Given the description of an element on the screen output the (x, y) to click on. 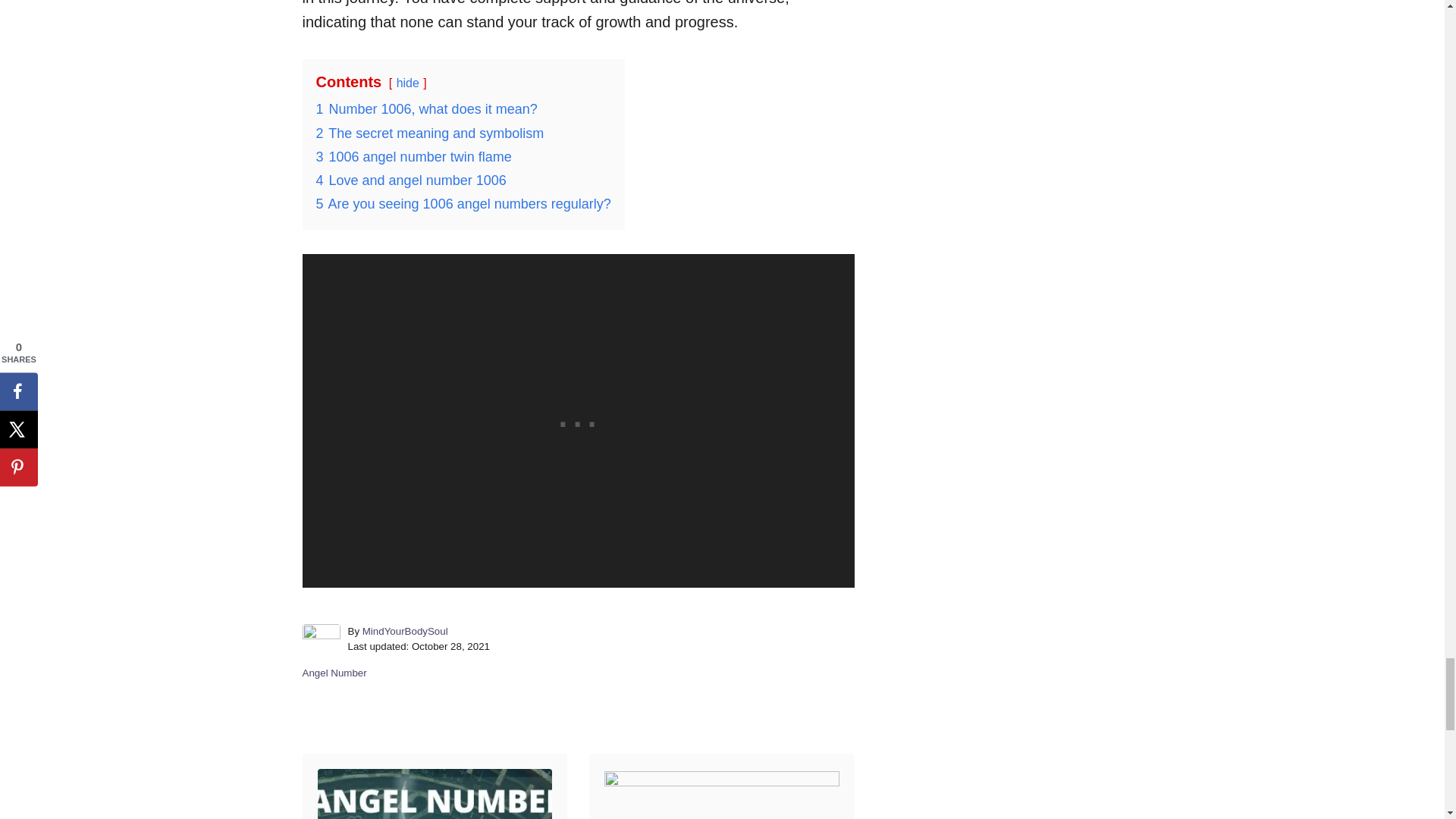
3 1006 angel number twin flame (413, 156)
5 Are you seeing 1006 angel numbers regularly? (462, 203)
2 The secret meaning and symbolism (429, 133)
hide (407, 82)
4 Love and angel number 1006 (410, 180)
Angel Number (333, 672)
MindYourBodySoul (405, 631)
1 Number 1006, what does it mean? (426, 109)
